Given the description of an element on the screen output the (x, y) to click on. 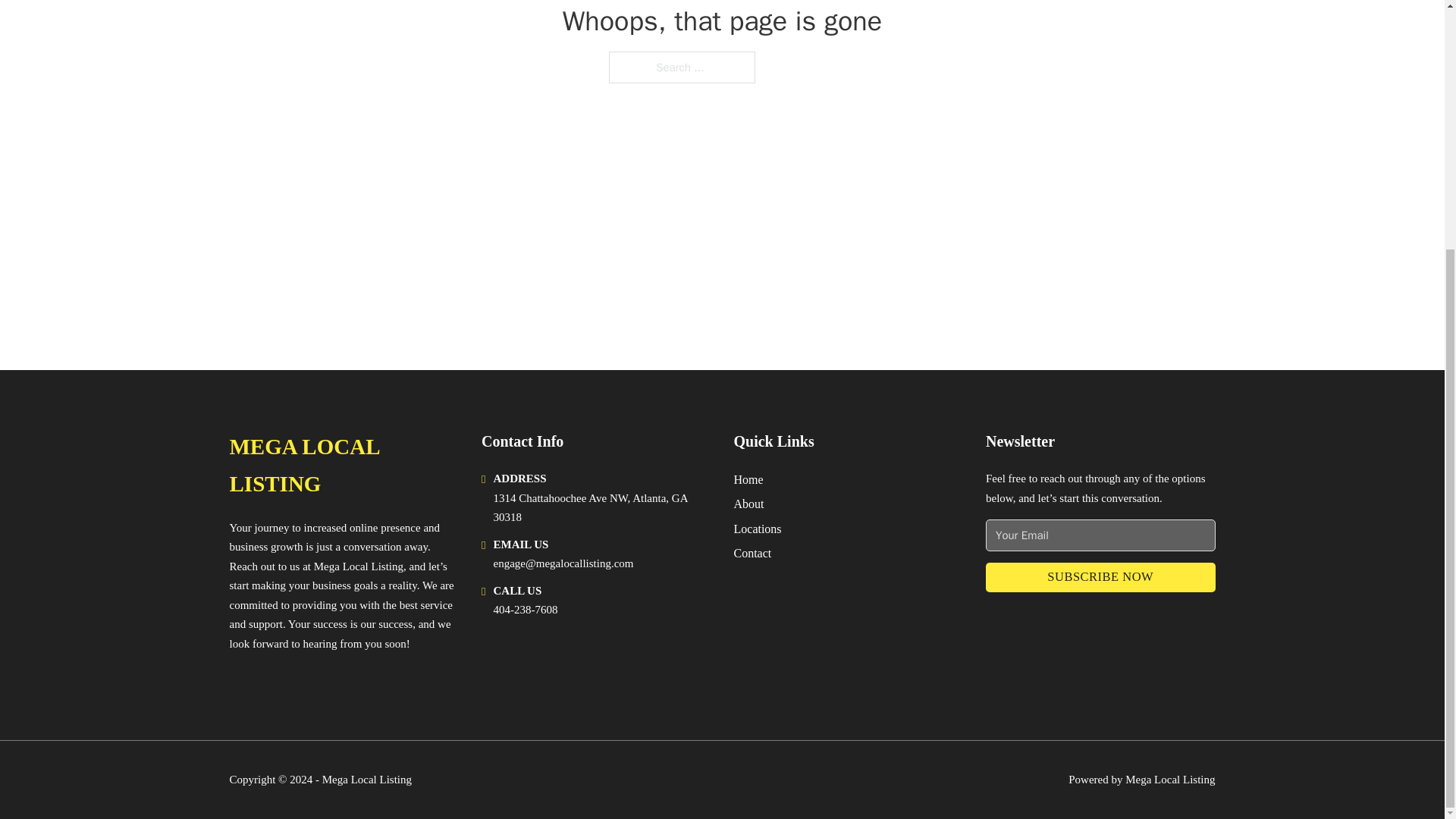
Locations (757, 528)
Contact (752, 552)
404-238-7608 (525, 609)
About (748, 503)
SUBSCRIBE NOW (1100, 577)
MEGA LOCAL LISTING (343, 465)
Home (747, 479)
